Given the description of an element on the screen output the (x, y) to click on. 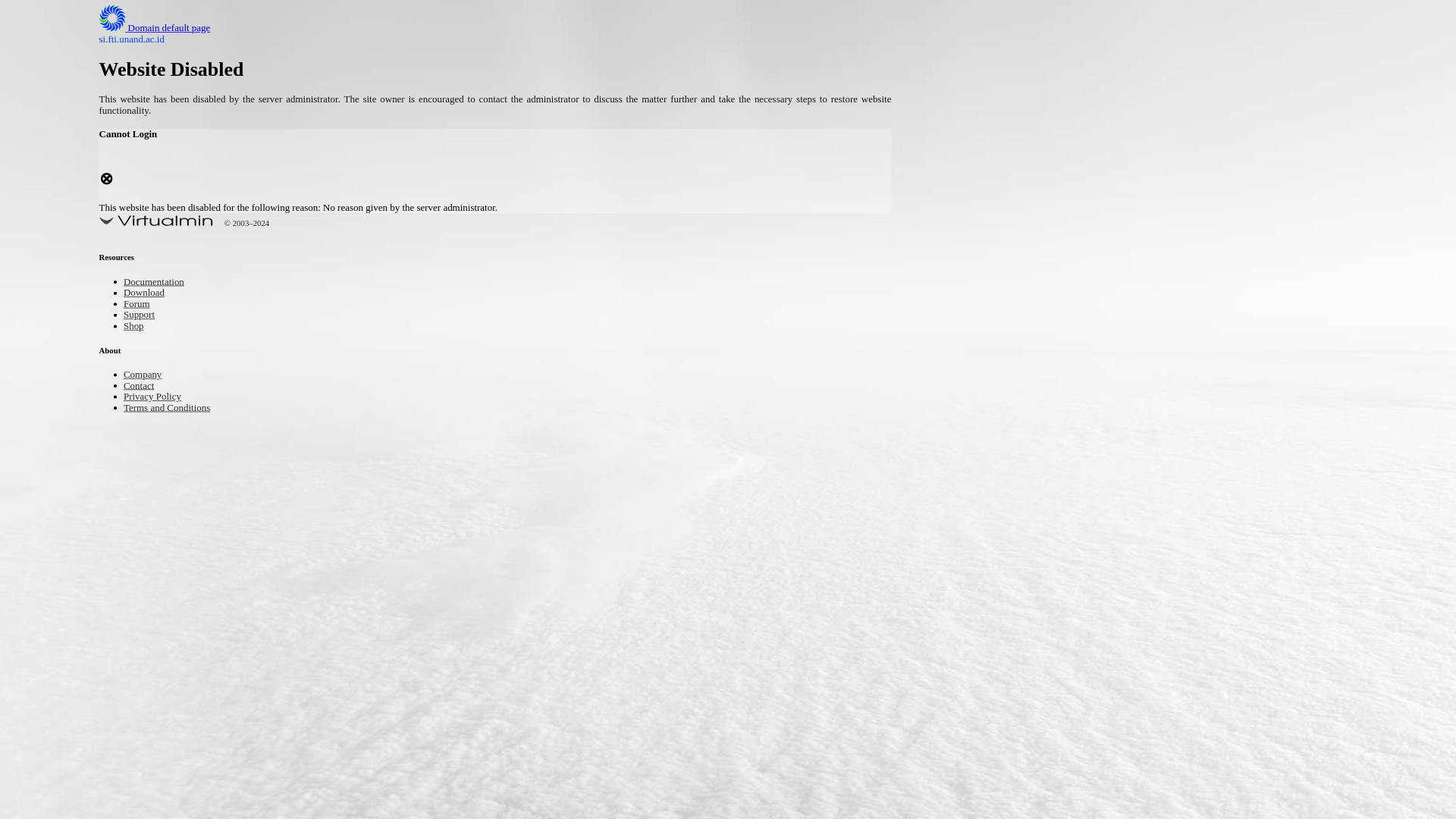
Terms and Conditions (176, 408)
Privacy Policy (159, 397)
Shop (135, 327)
Contact (142, 386)
Company (146, 374)
Documentation (160, 282)
Domain default page (167, 29)
Support (142, 315)
Forum (139, 305)
Download (148, 293)
